Given the description of an element on the screen output the (x, y) to click on. 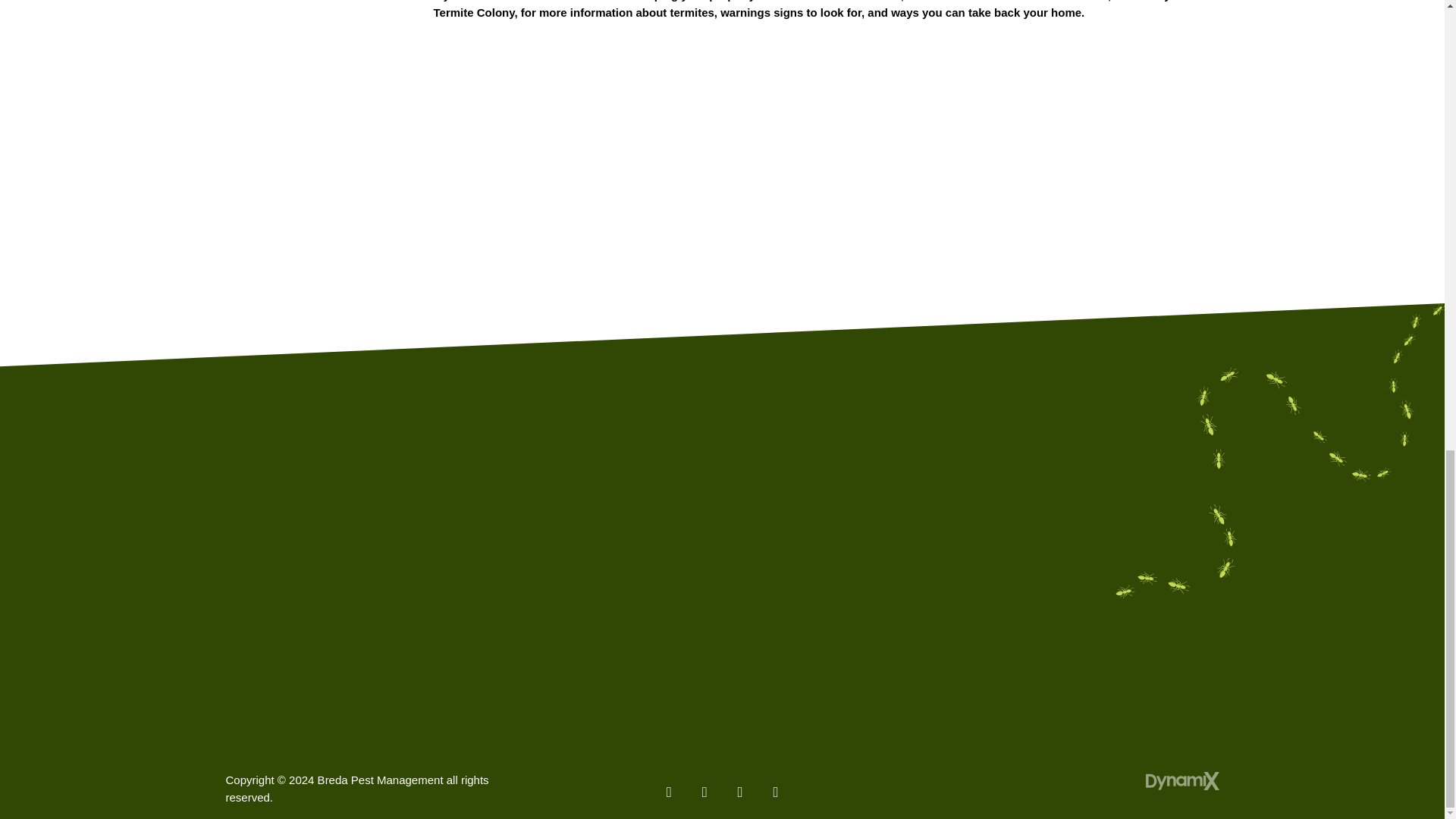
Instagram (775, 789)
Facebook (668, 789)
YouTube (739, 789)
